Given the description of an element on the screen output the (x, y) to click on. 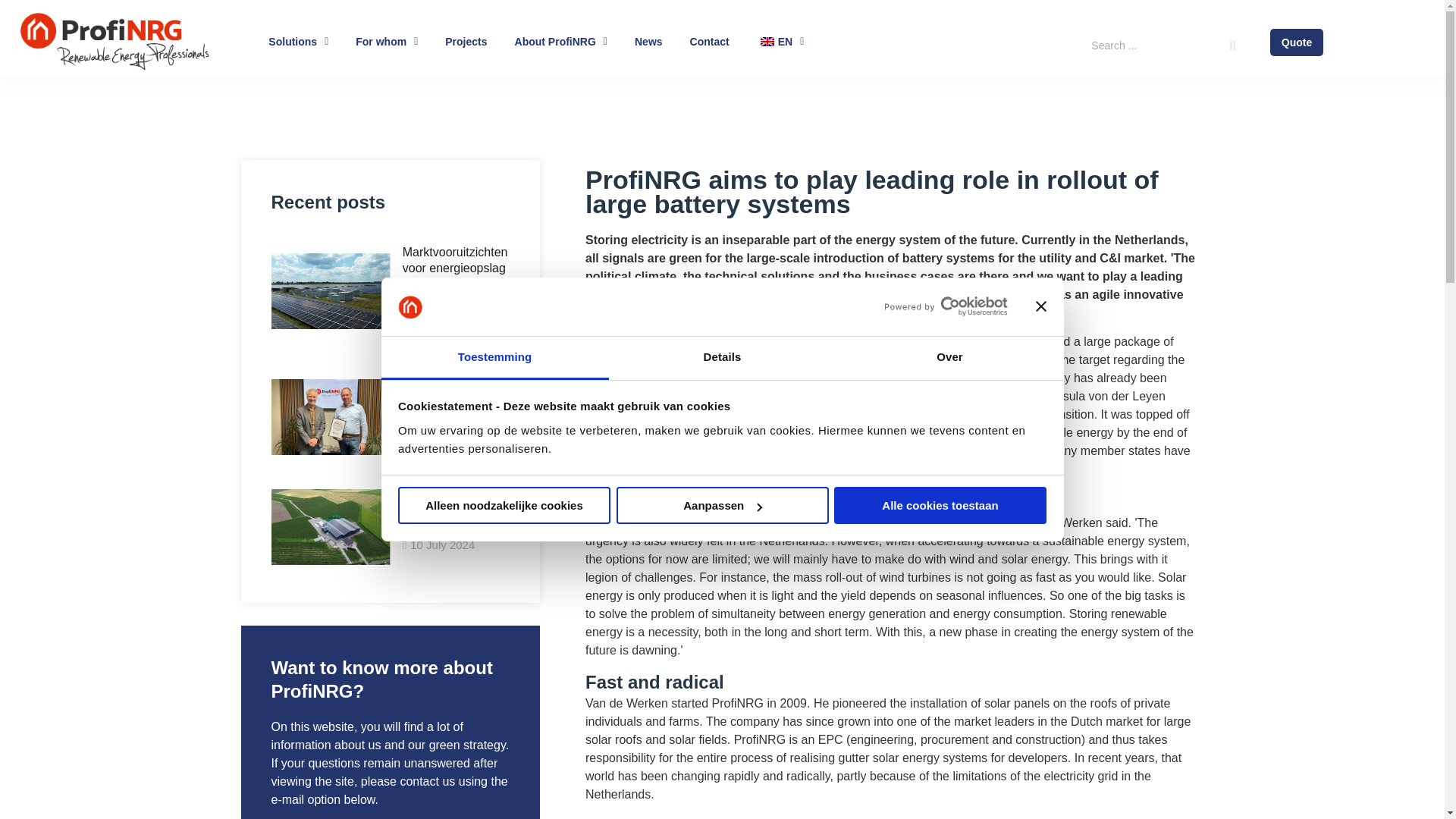
Aanpassen (721, 505)
Details (721, 358)
Toestemming (494, 358)
Alleen noodzakelijke cookies (503, 505)
English (767, 40)
Over (948, 358)
